Given the description of an element on the screen output the (x, y) to click on. 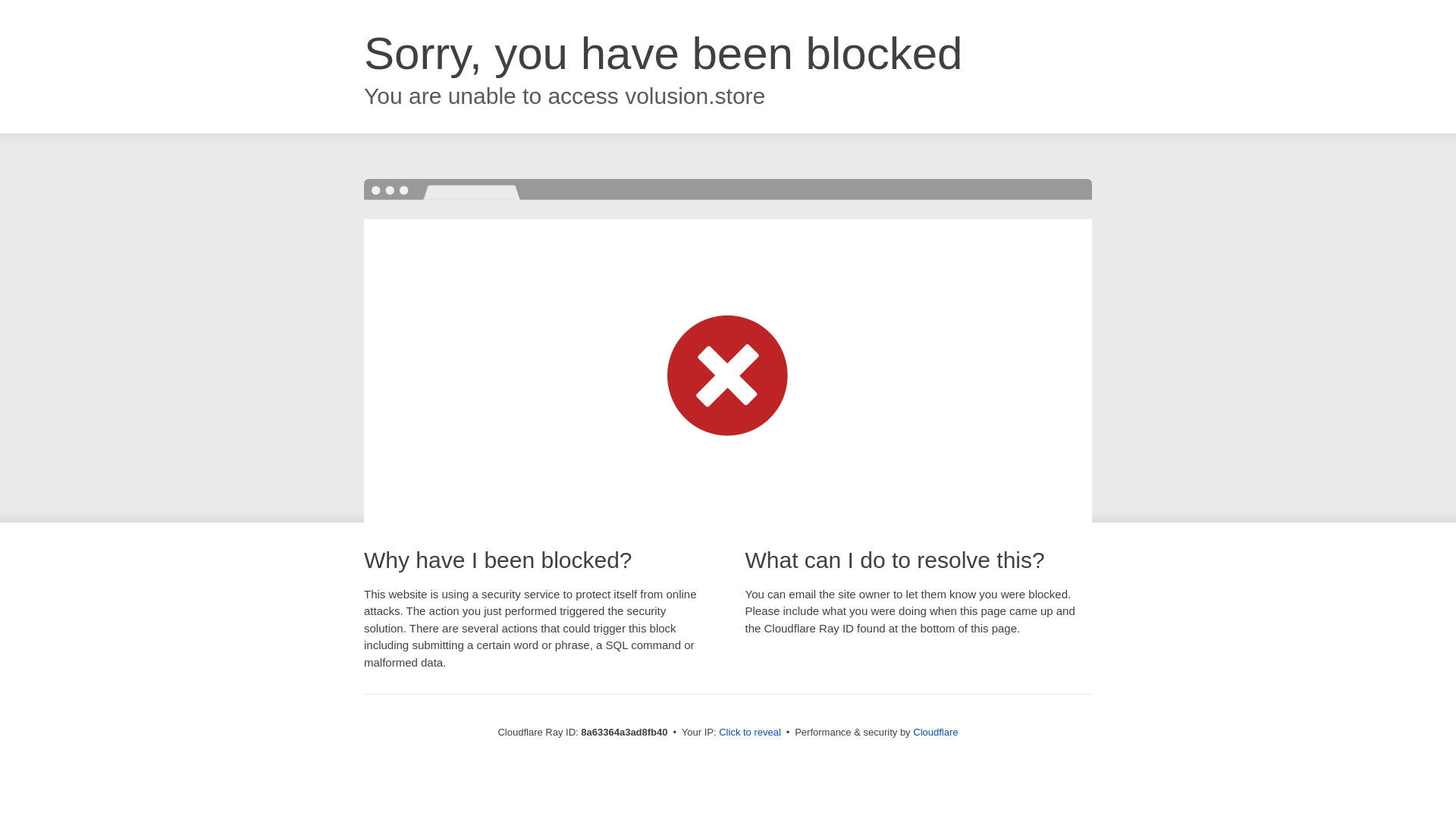
Cloudflare (935, 731)
Click to reveal (749, 732)
